Given the description of an element on the screen output the (x, y) to click on. 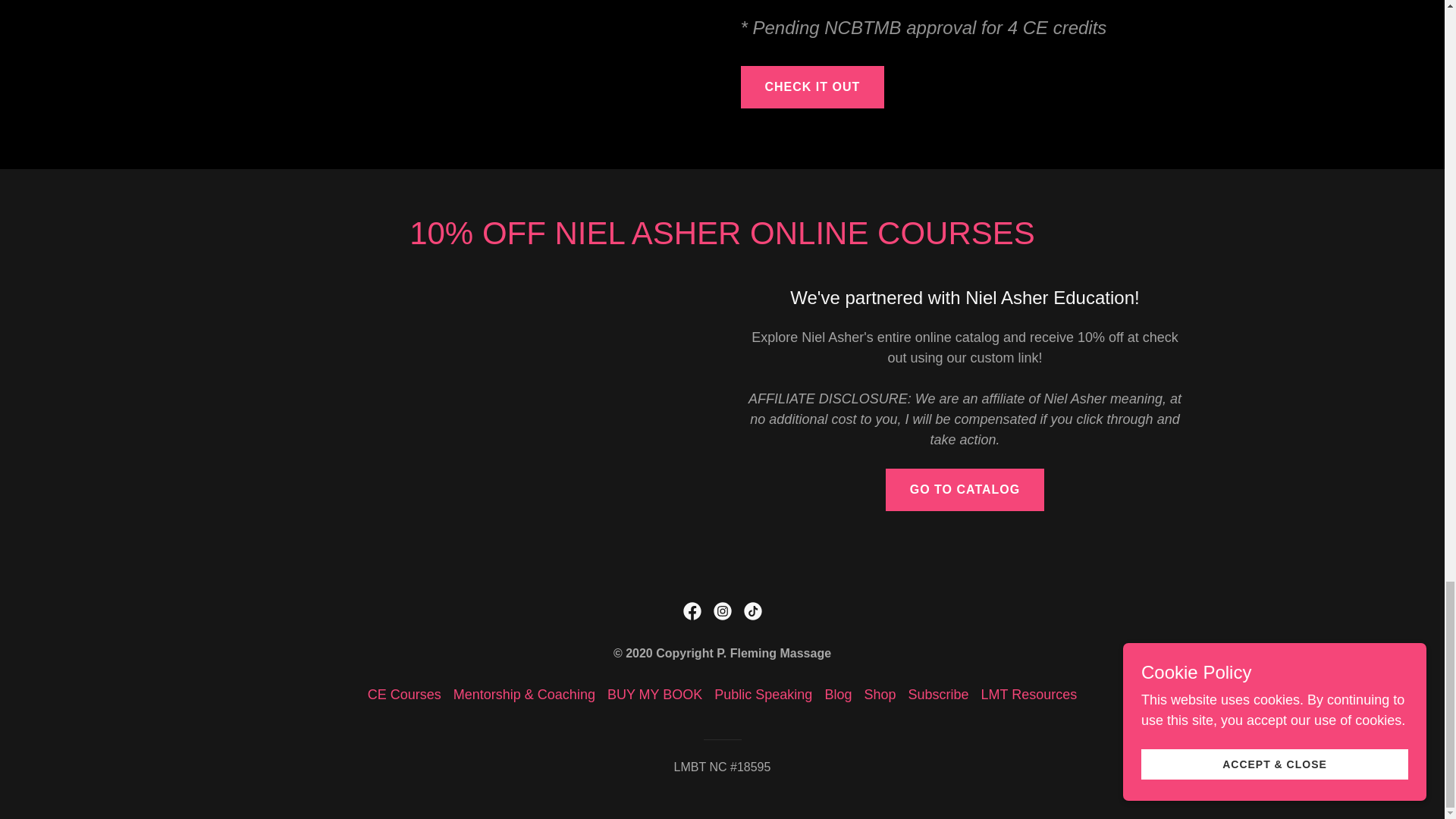
CHECK IT OUT (811, 87)
GO TO CATALOG (964, 489)
